Given the description of an element on the screen output the (x, y) to click on. 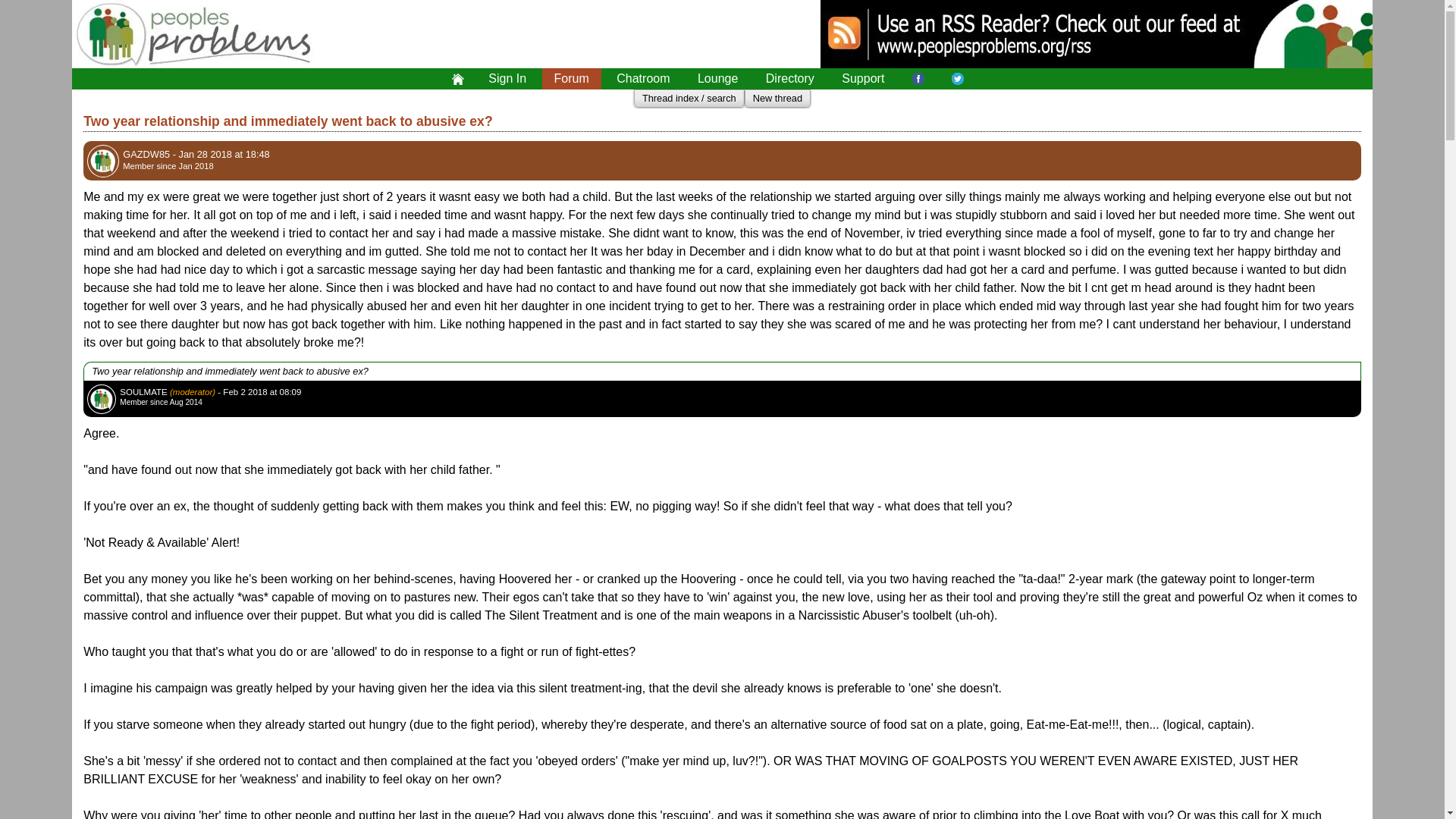
Lounge (717, 78)
Support (862, 78)
Chatroom (642, 78)
Forum (571, 78)
New thread (777, 98)
Directory (790, 78)
Sign In (507, 78)
